Given the description of an element on the screen output the (x, y) to click on. 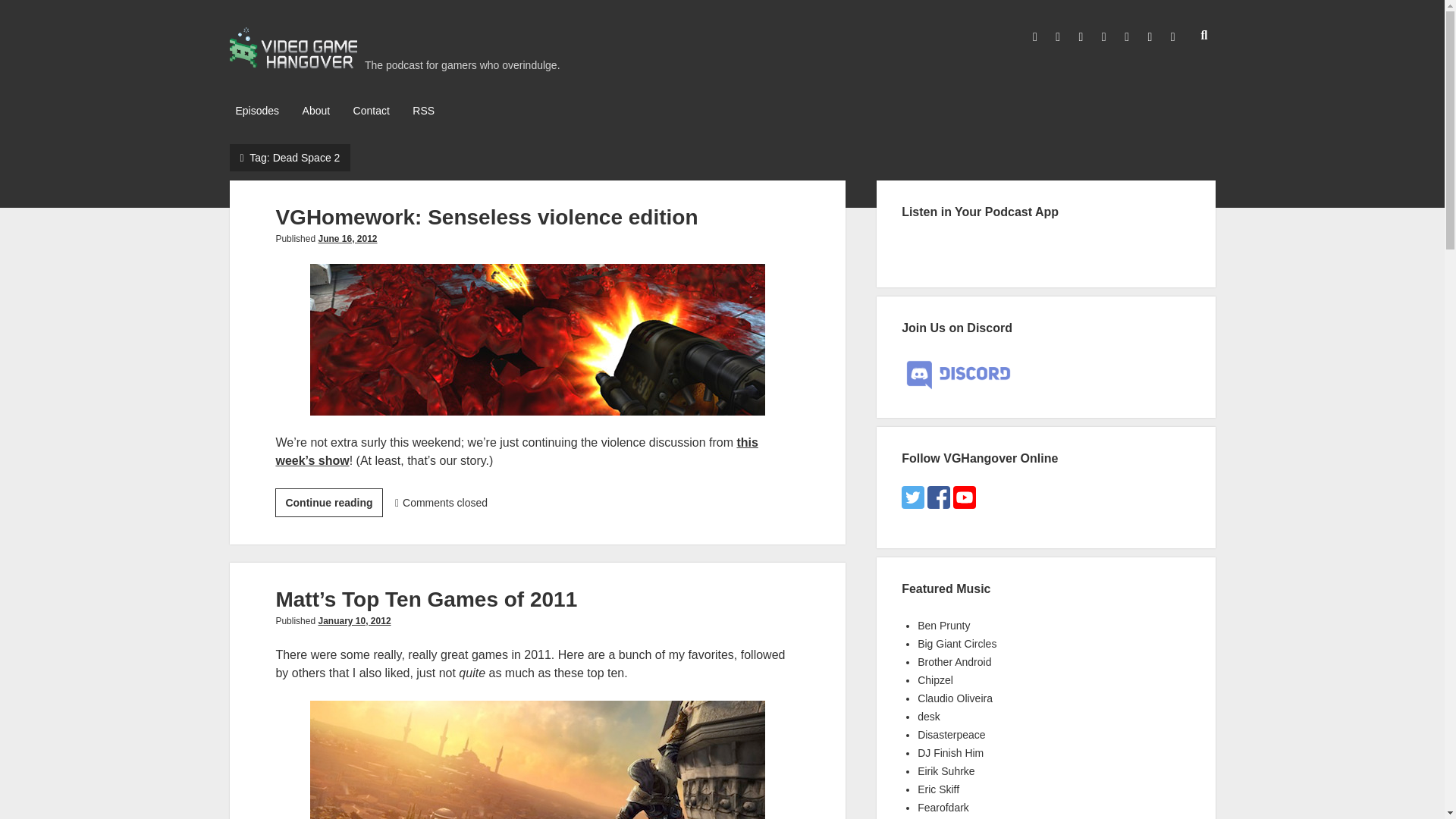
June 16, 2012 (347, 238)
gibs (328, 502)
Subscribe to VGHangover.com blog posts (537, 339)
VGHomework: Senseless violence edition (423, 111)
About (486, 217)
January 10, 2012 (316, 111)
Episodes (353, 620)
Video Game Hangover (256, 111)
RSS (292, 63)
